Given the description of an element on the screen output the (x, y) to click on. 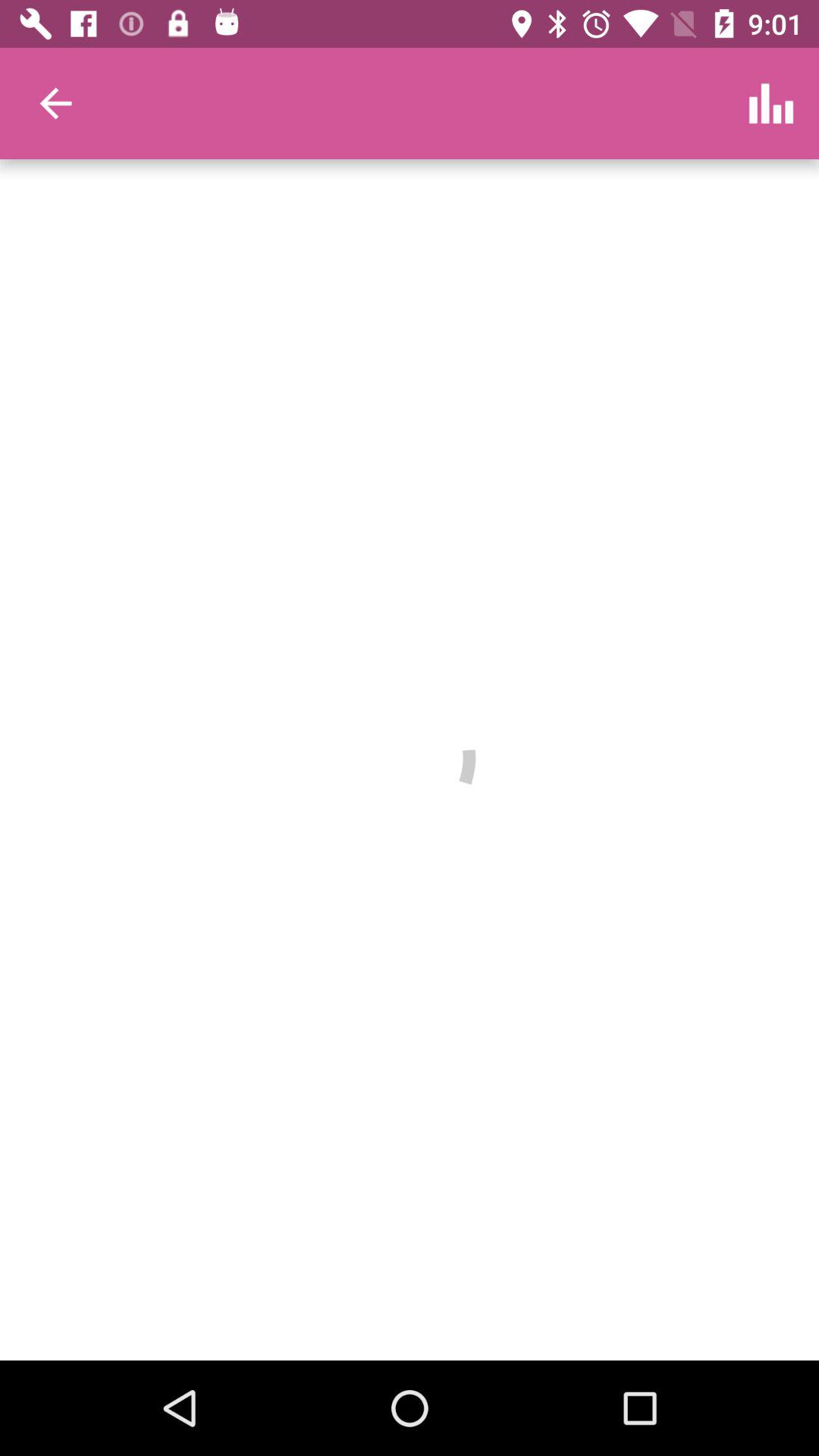
open item at the top left corner (55, 103)
